Given the description of an element on the screen output the (x, y) to click on. 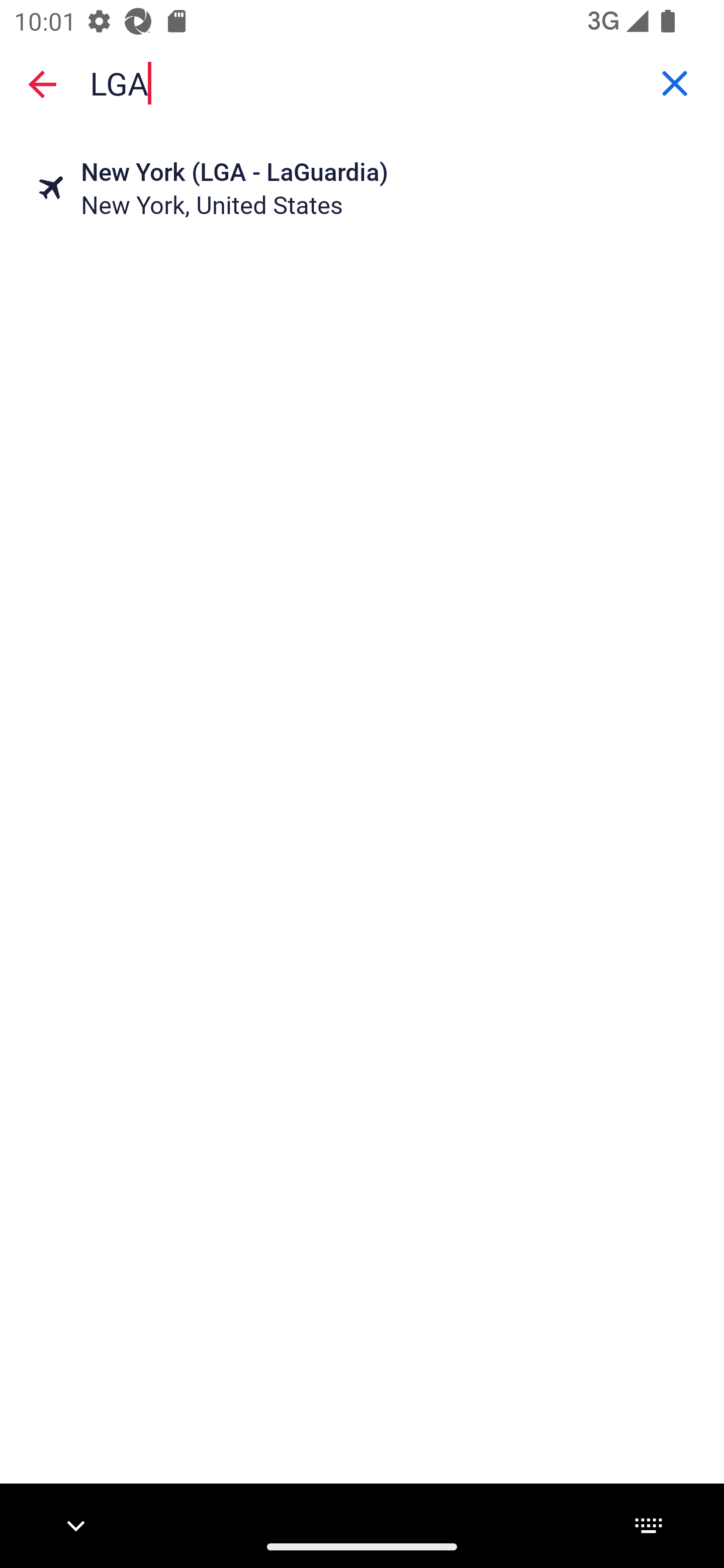
Clear Drop-off (674, 82)
Drop-off, LGA (361, 82)
Close search screen (41, 83)
